Given the description of an element on the screen output the (x, y) to click on. 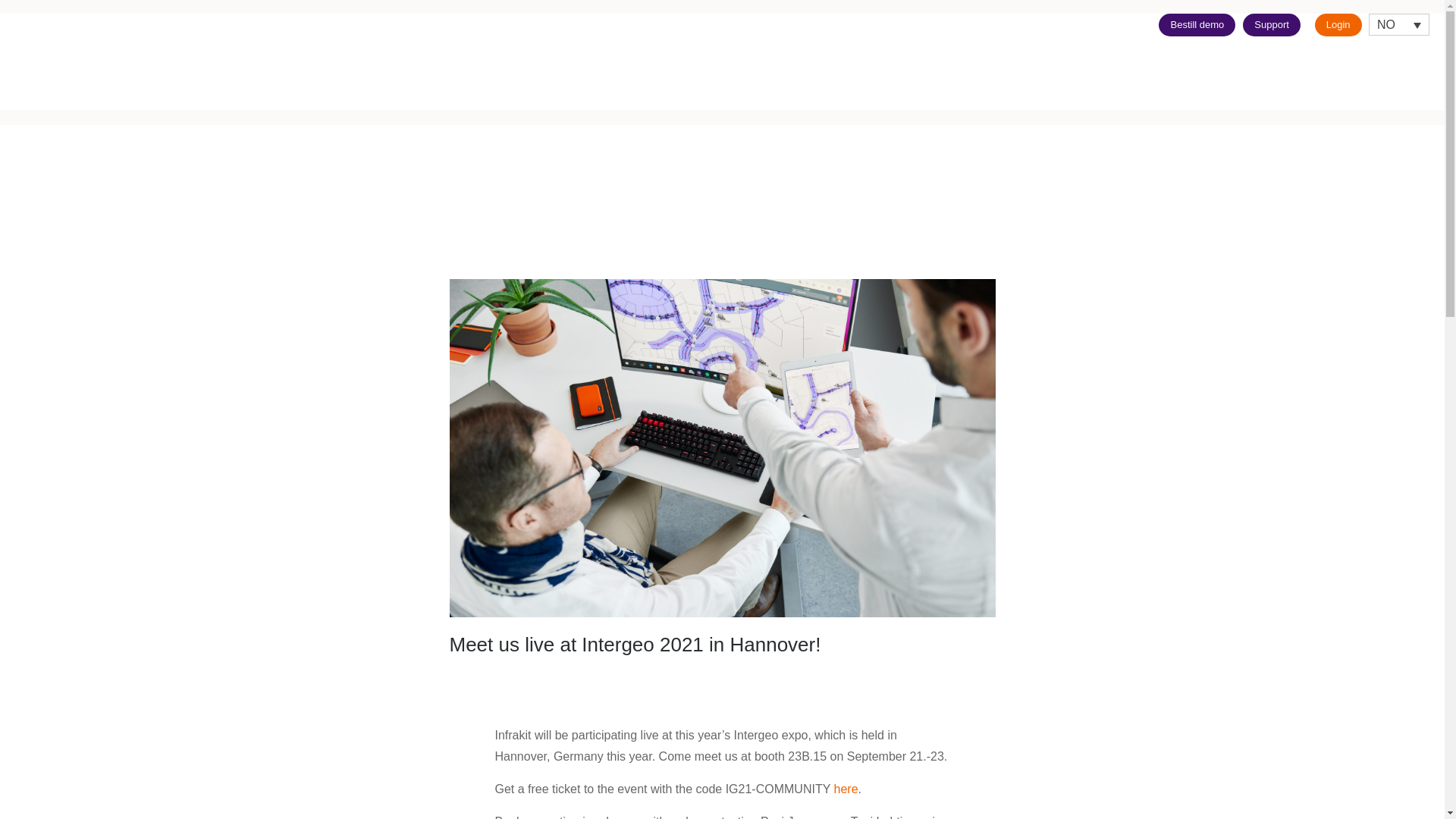
Bestill demo (1196, 24)
NO (1398, 24)
Referanser (1286, 80)
Kontakt oss (1409, 80)
Login (1337, 24)
here (846, 788)
Support (1271, 24)
